Given the description of an element on the screen output the (x, y) to click on. 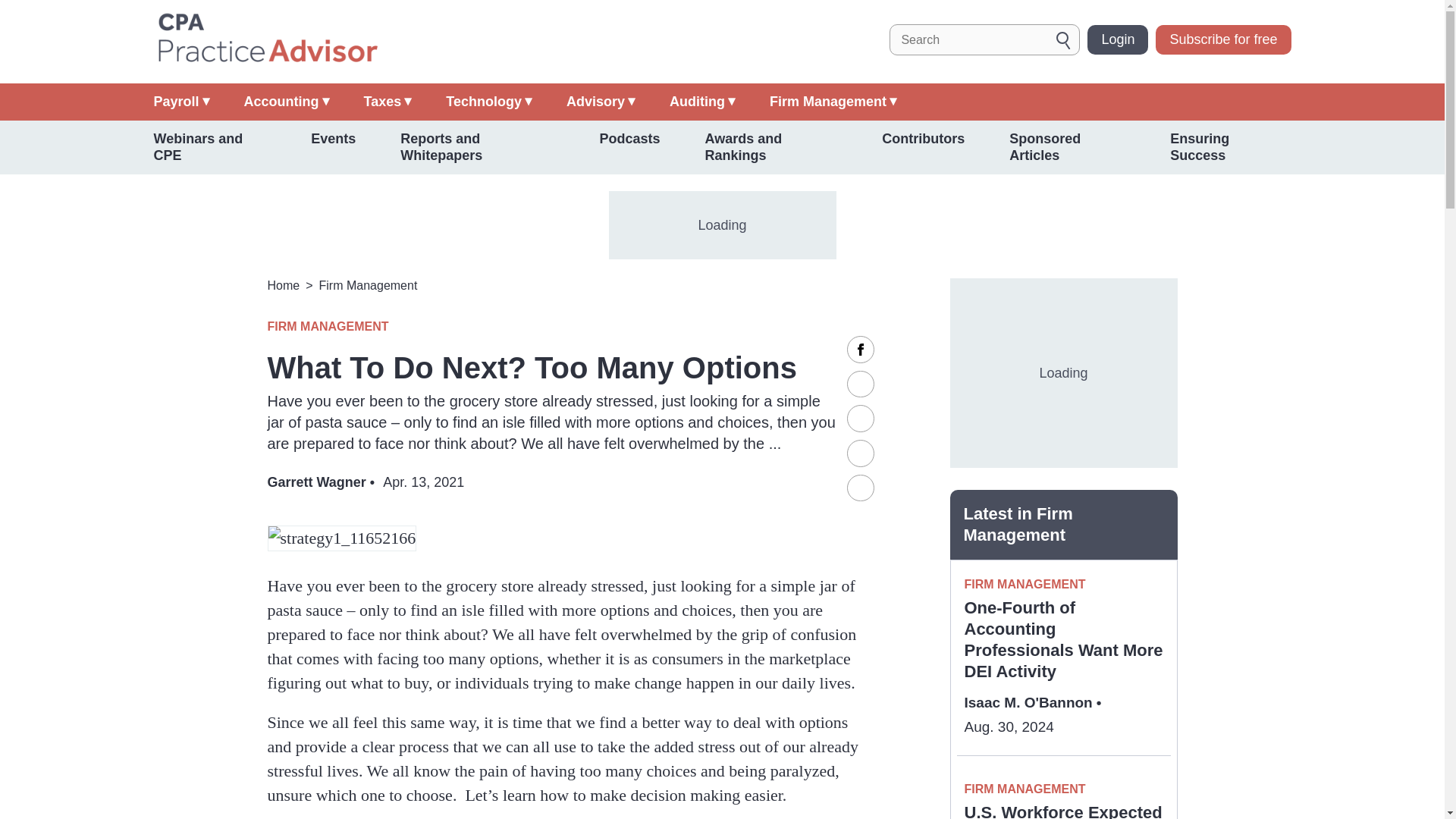
Payroll (180, 101)
Advisory (600, 101)
Auditing (702, 101)
Home (266, 39)
Subscribe for free (1223, 39)
Taxes (388, 101)
Login (1117, 39)
Accounting (287, 101)
Technology (488, 101)
